Given the description of an element on the screen output the (x, y) to click on. 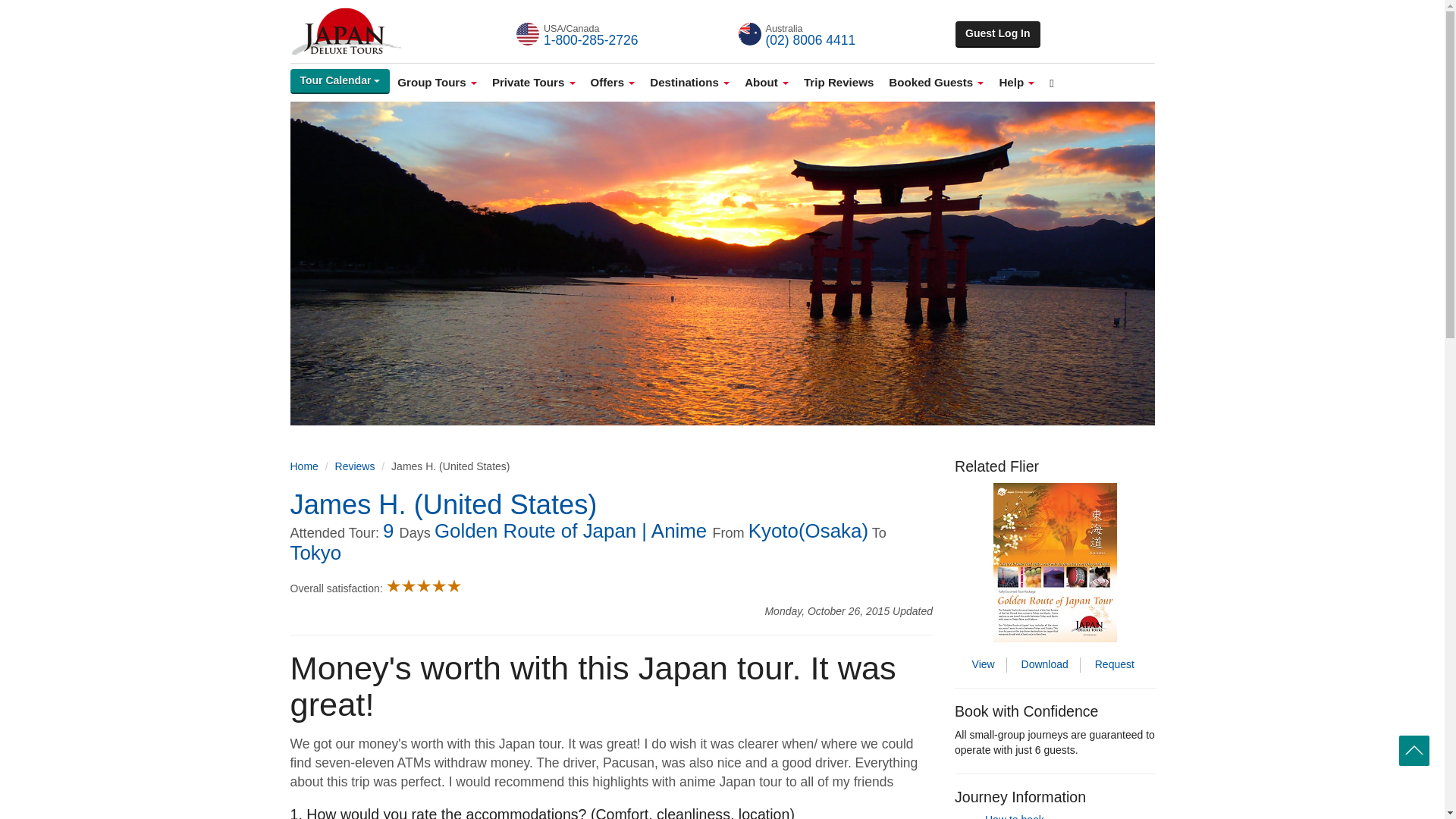
Private Tours (533, 82)
Guest Log In (998, 34)
About (766, 82)
Tour Calendar (339, 81)
Offers (613, 82)
Group Tours (437, 82)
Destinations (689, 82)
